Given the description of an element on the screen output the (x, y) to click on. 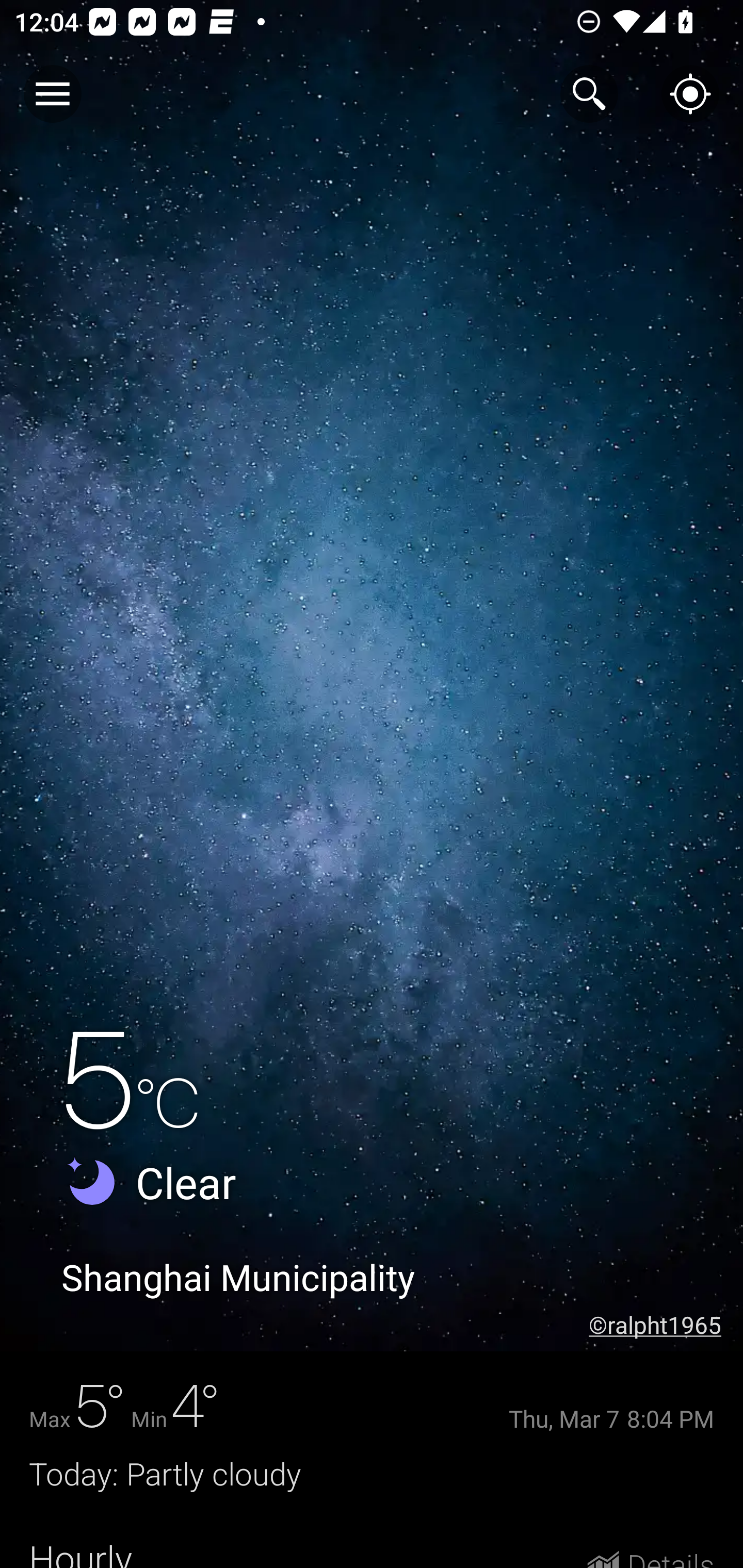
©ralpht1965 (665, 1324)
